Given the description of an element on the screen output the (x, y) to click on. 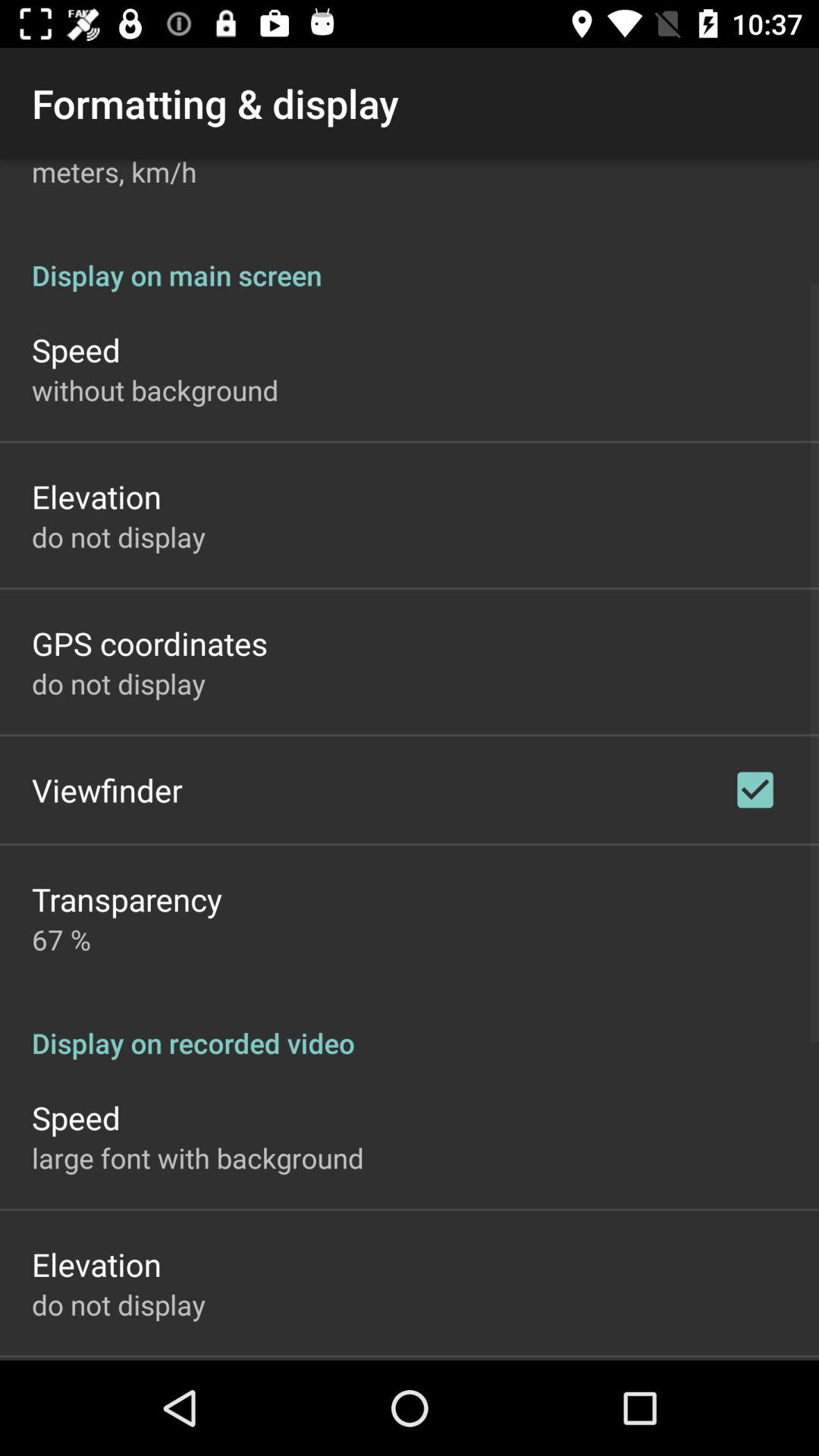
turn on item above the display on main (113, 174)
